Given the description of an element on the screen output the (x, y) to click on. 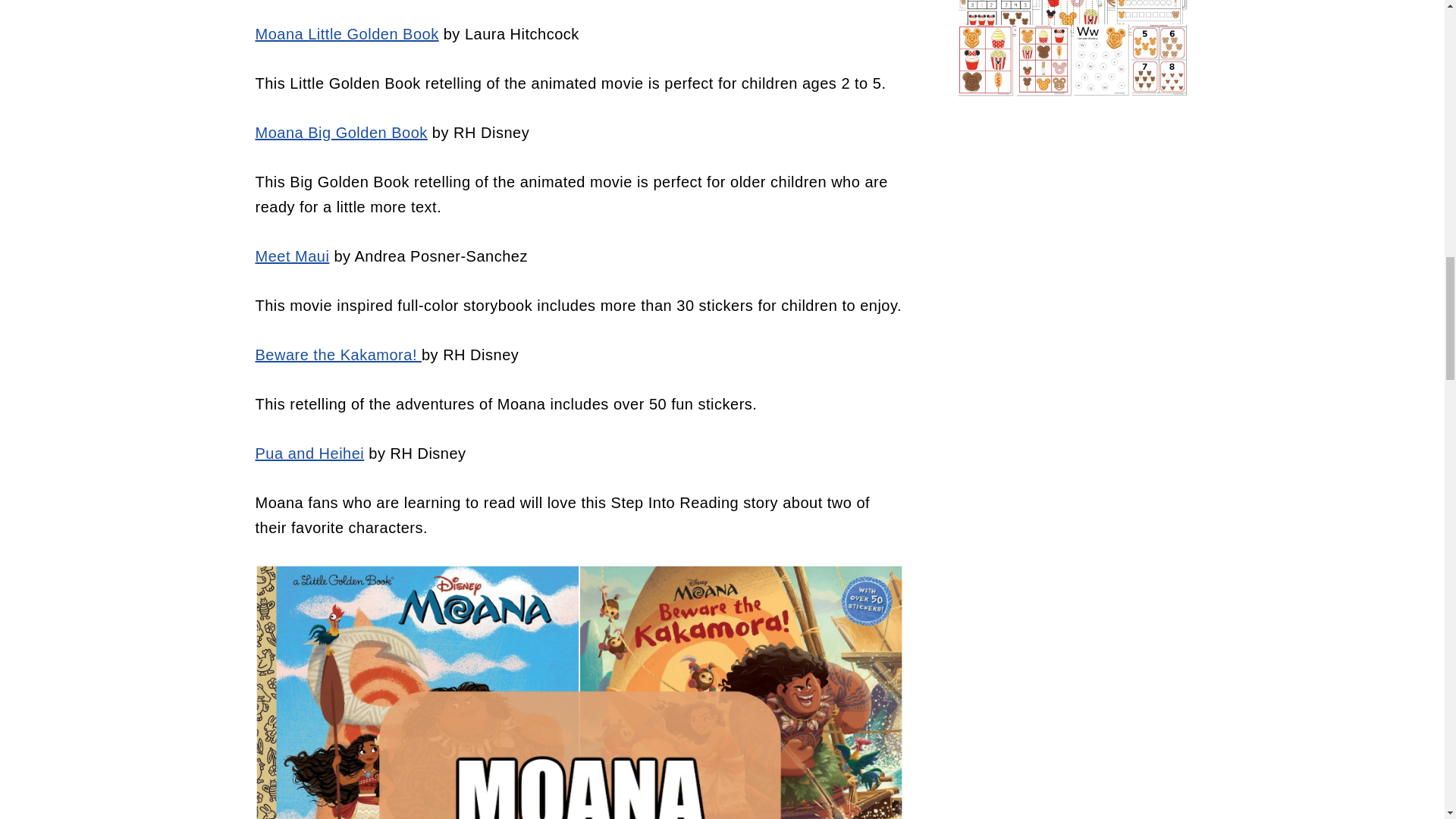
Moana Little Golden Book (346, 33)
Meet Maui (291, 256)
Moana Big Golden Book (340, 132)
Pua and Heihei (309, 453)
Beware the Kakamora! (338, 354)
